Given the description of an element on the screen output the (x, y) to click on. 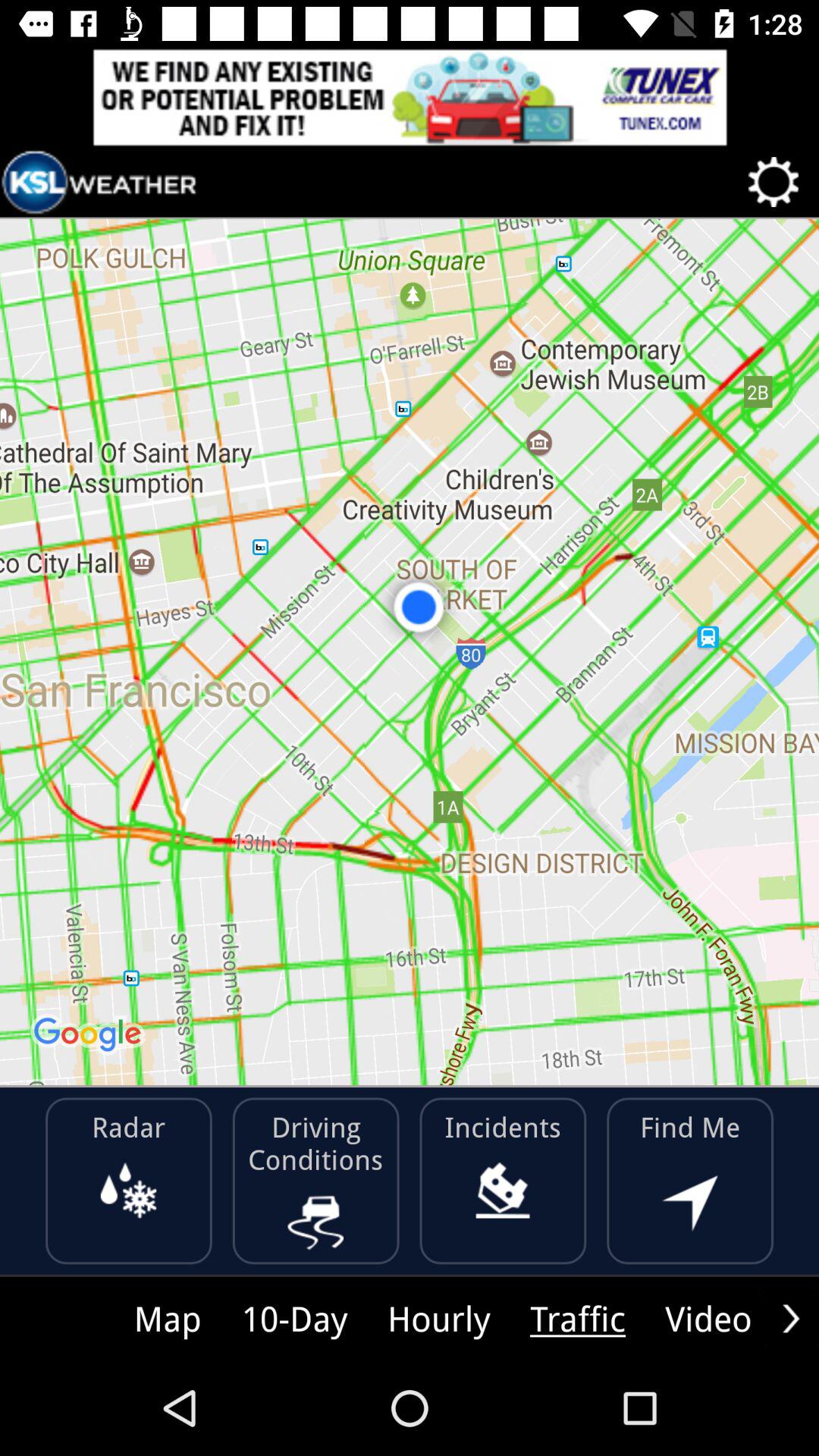
goes to main page (99, 182)
